Given the description of an element on the screen output the (x, y) to click on. 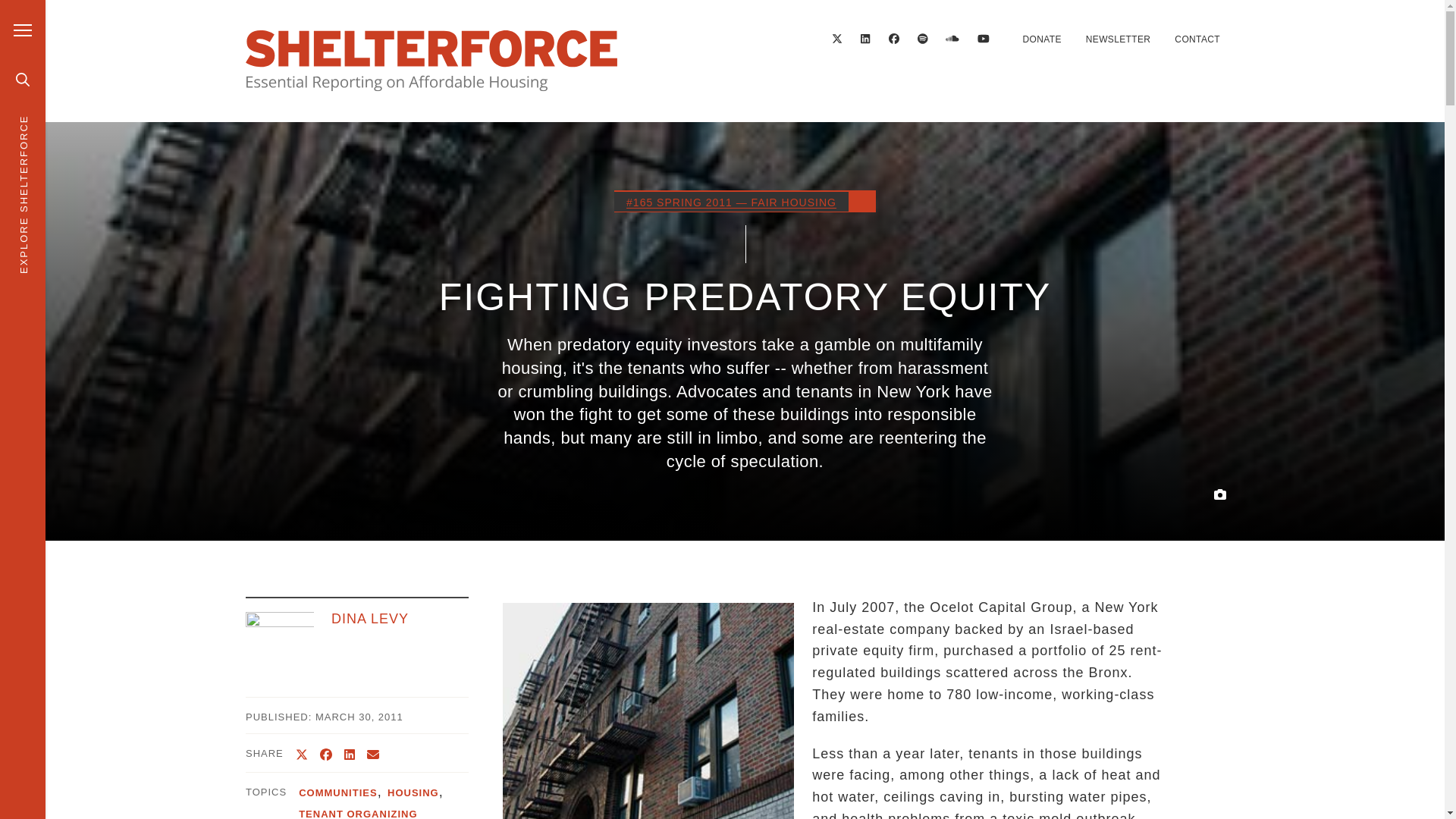
Follow us on Spotify (922, 38)
Follow us on Soundcloud (952, 38)
Spotify (922, 38)
Facebook (893, 38)
DONATE (1041, 39)
Share Via Facebook (325, 754)
Soundcloud (952, 38)
Facebook (893, 38)
CONTACT (1197, 39)
Follow us on LinkedIn (865, 38)
